Given the description of an element on the screen output the (x, y) to click on. 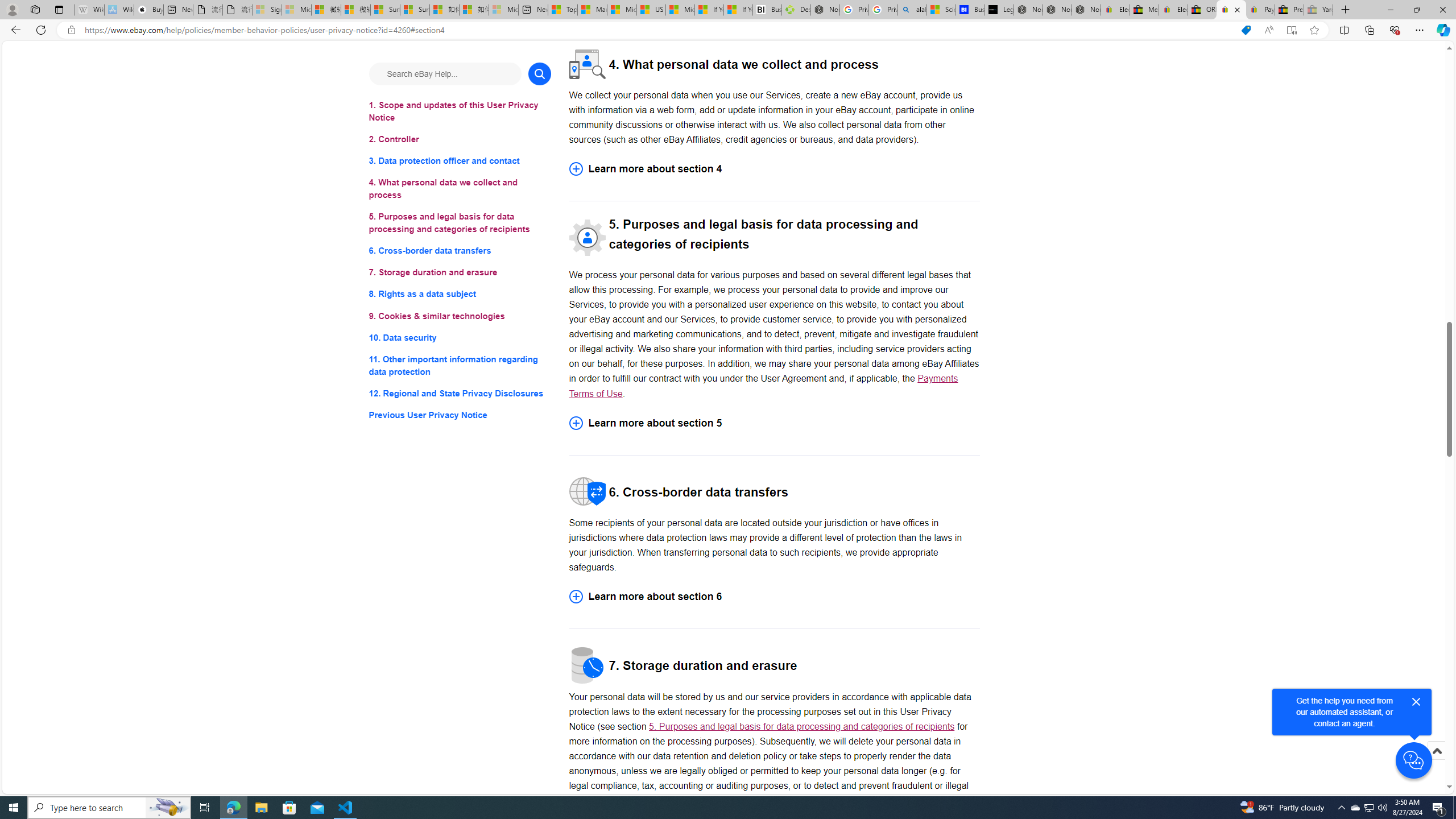
6. Cross-border data transfers (459, 250)
